Given the description of an element on the screen output the (x, y) to click on. 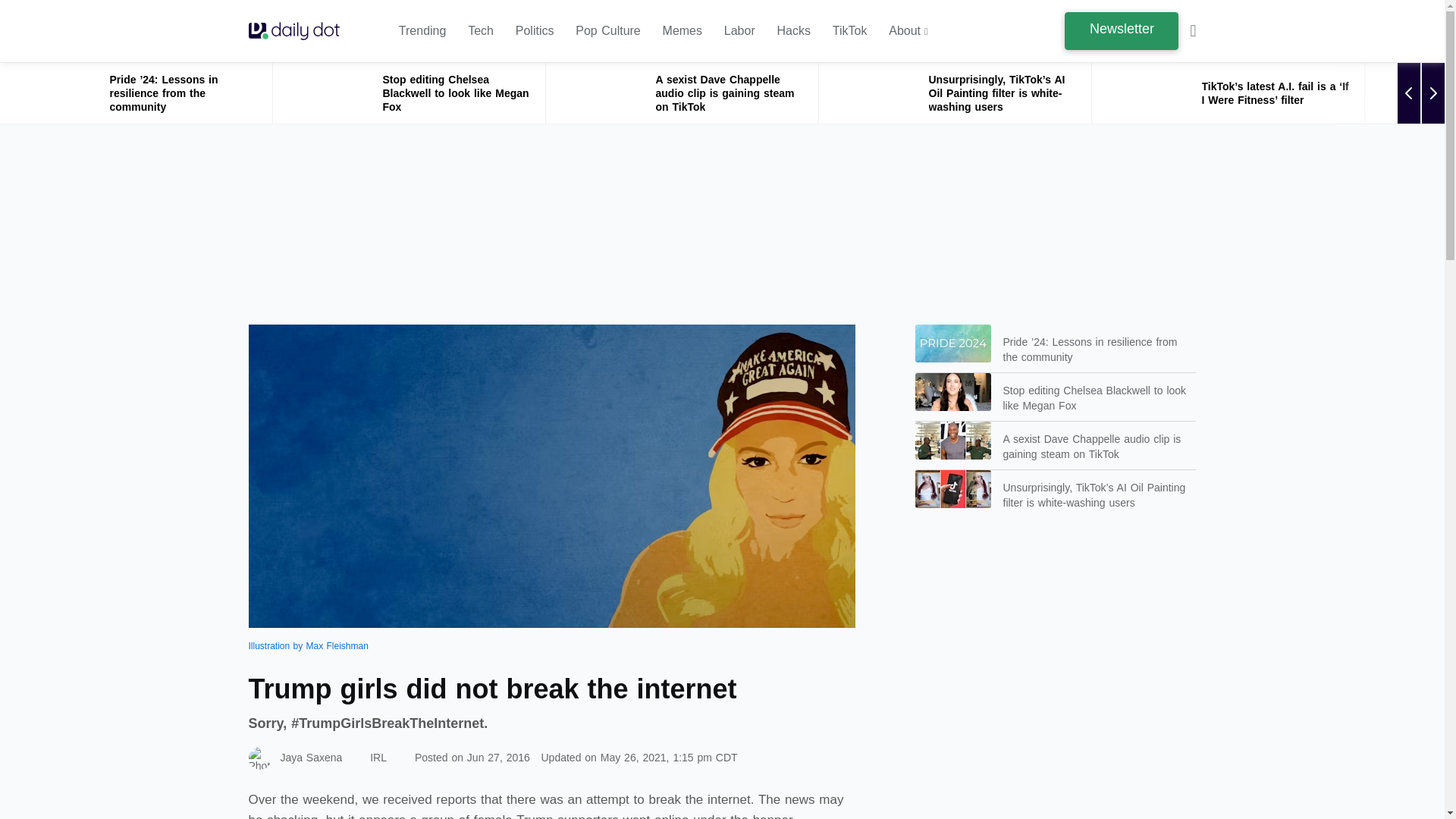
Trending (422, 31)
Hacks (793, 31)
About (908, 31)
Newsletter (1120, 30)
Politics (534, 31)
TikTok (849, 31)
Pop Culture (607, 31)
Memes (681, 31)
Labor (739, 31)
Tech (480, 31)
